Given the description of an element on the screen output the (x, y) to click on. 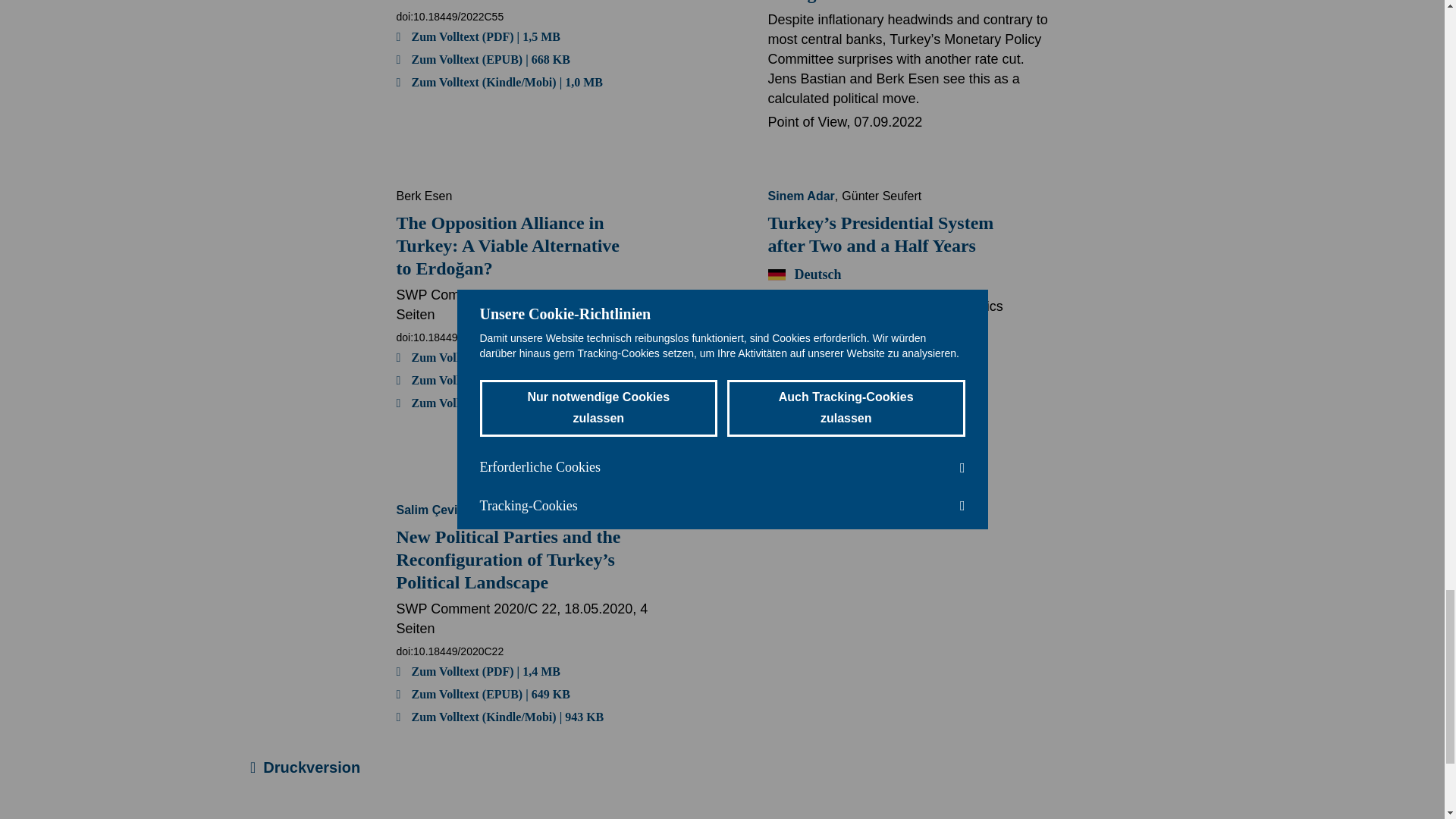
PDF-Datei; kann u.a. im Adobe Acrobat Reader gelesen werden (477, 37)
PDF-Datei; kann u.a. im Adobe Acrobat Reader gelesen werden (849, 391)
PDF-Datei; kann u.a. im Adobe Acrobat Reader gelesen werden (477, 670)
PDF-Datei; kann u.a. im Adobe Acrobat Reader gelesen werden (478, 356)
